Given the description of an element on the screen output the (x, y) to click on. 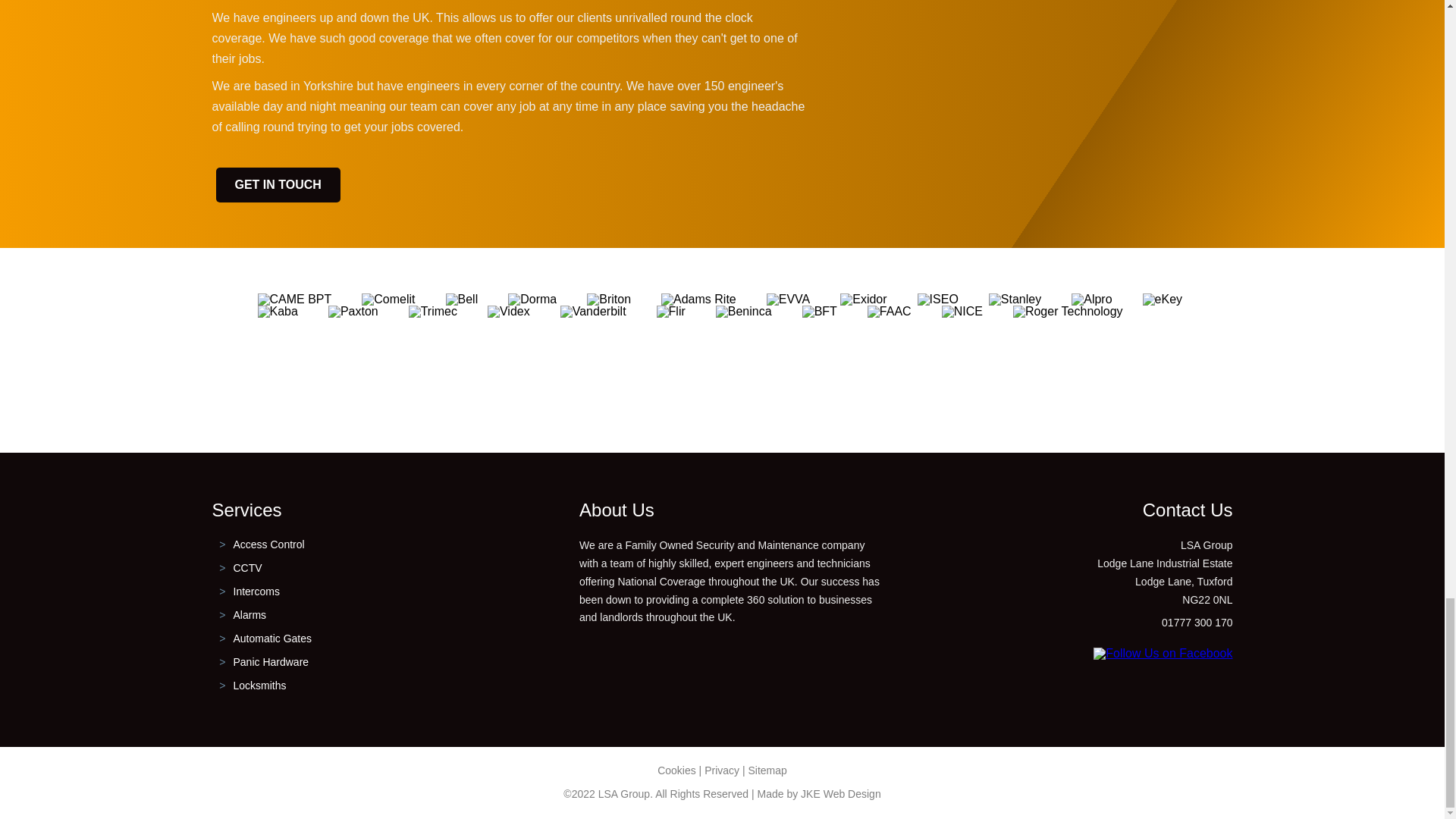
CCTV (247, 567)
Access Control (268, 544)
Panic Hardware (270, 662)
Locksmiths (259, 685)
Intercoms (255, 591)
Privacy (721, 770)
01777 300 170 (1196, 622)
Cookies (676, 770)
GET IN TOUCH (277, 184)
Alarms (249, 614)
